Given the description of an element on the screen output the (x, y) to click on. 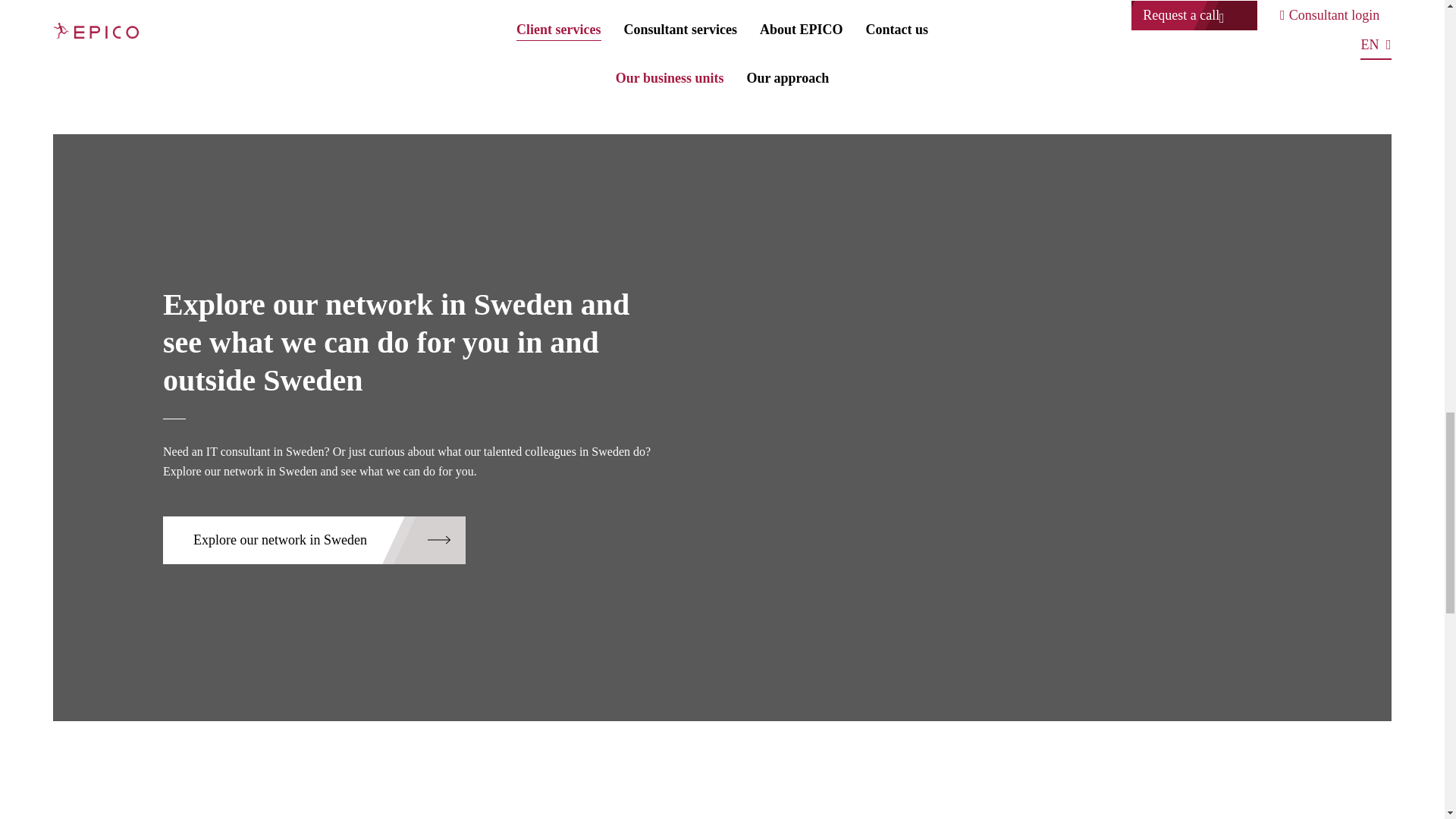
Explore our network in Sweden (314, 540)
